Given the description of an element on the screen output the (x, y) to click on. 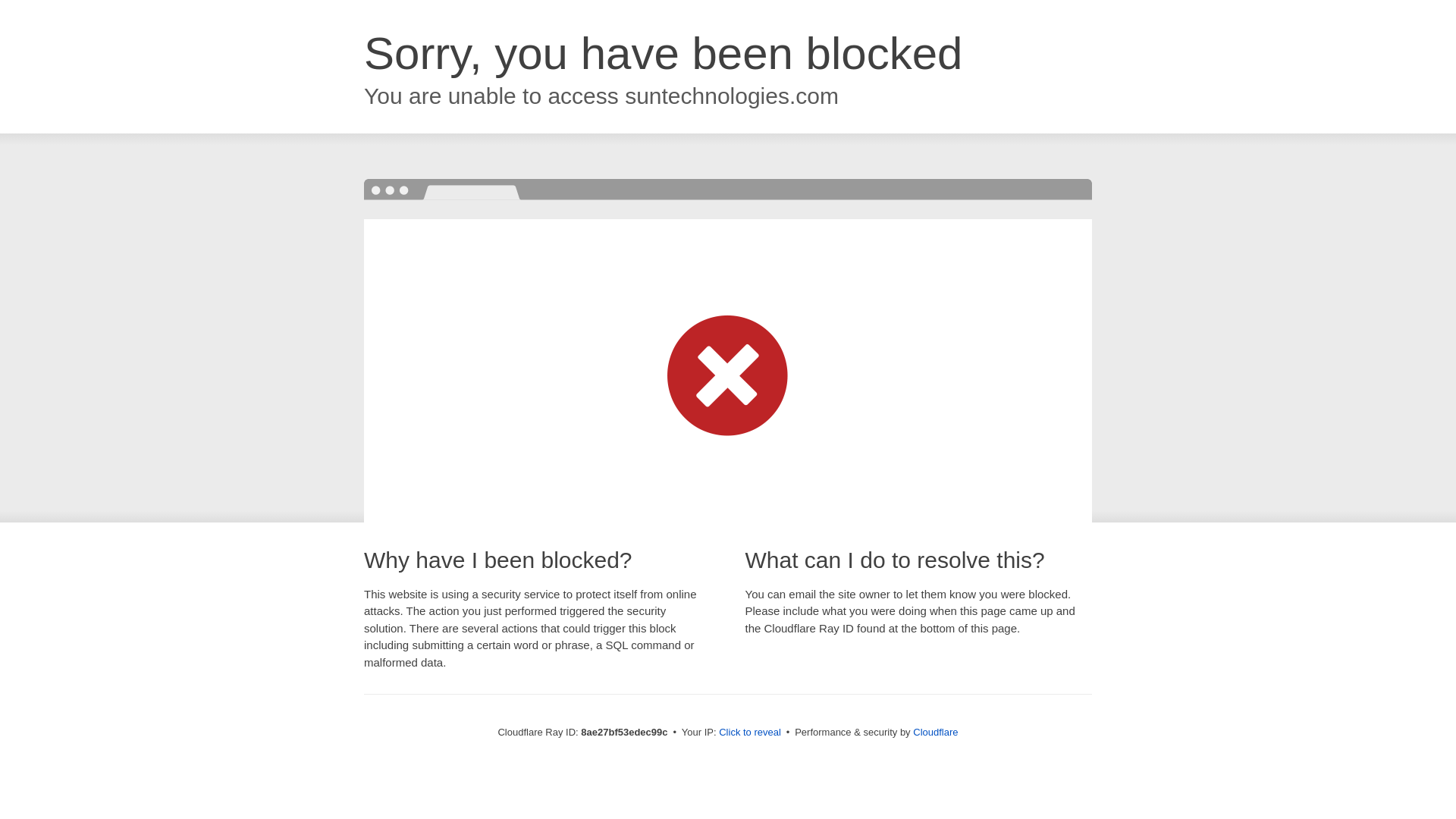
Cloudflare (935, 731)
Click to reveal (749, 732)
